Given the description of an element on the screen output the (x, y) to click on. 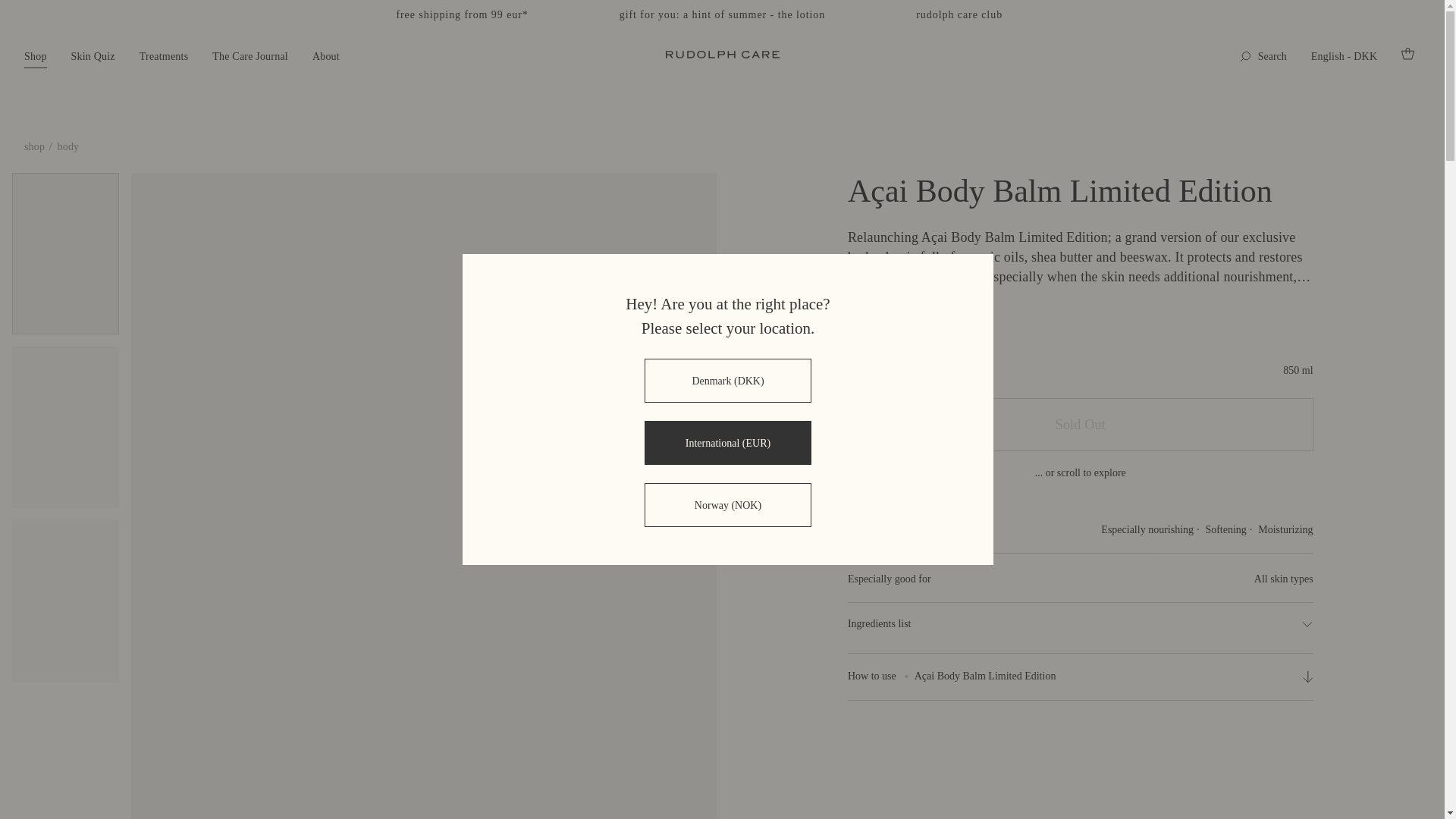
Read more (882, 313)
The Care Journal (250, 56)
Treatments (163, 56)
English - DKK (1344, 56)
About (326, 56)
gift for you: a hint of summer - the lotion (722, 14)
Skin Quiz (93, 56)
Search (1263, 56)
rudolph care club (959, 14)
Sold Out (1080, 424)
